Given the description of an element on the screen output the (x, y) to click on. 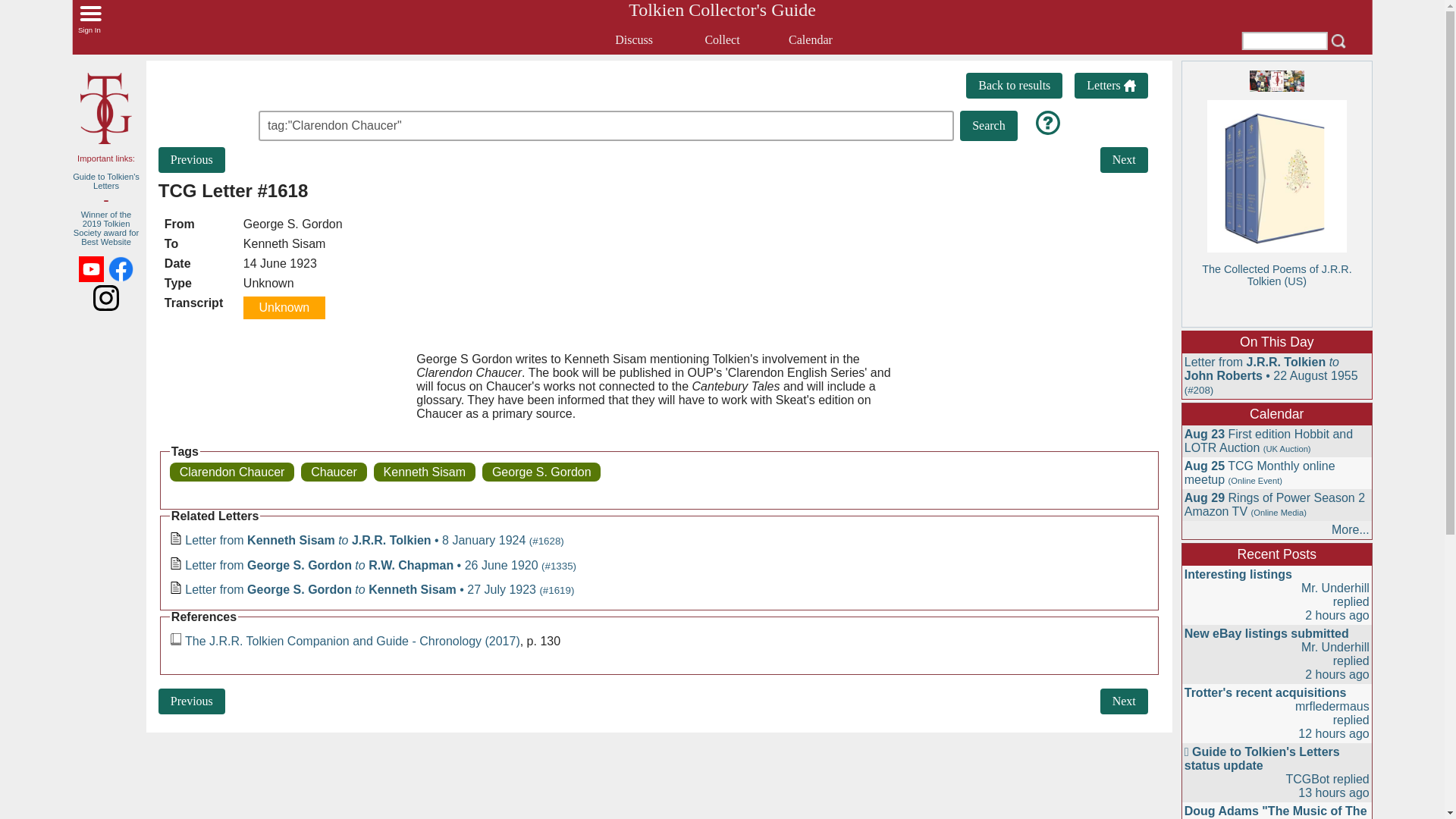
1619: George S. Gordon to Kenneth Sisam (1124, 701)
letter (176, 587)
Chaucer (333, 471)
1619: George S. Gordon to Kenneth Sisam (1124, 159)
George S. Gordon (540, 471)
letter (176, 563)
tag:"Clarendon Chaucer" (556, 125)
Search (988, 125)
1335: George S. Gordon to R.W. Chapman (191, 701)
